Given the description of an element on the screen output the (x, y) to click on. 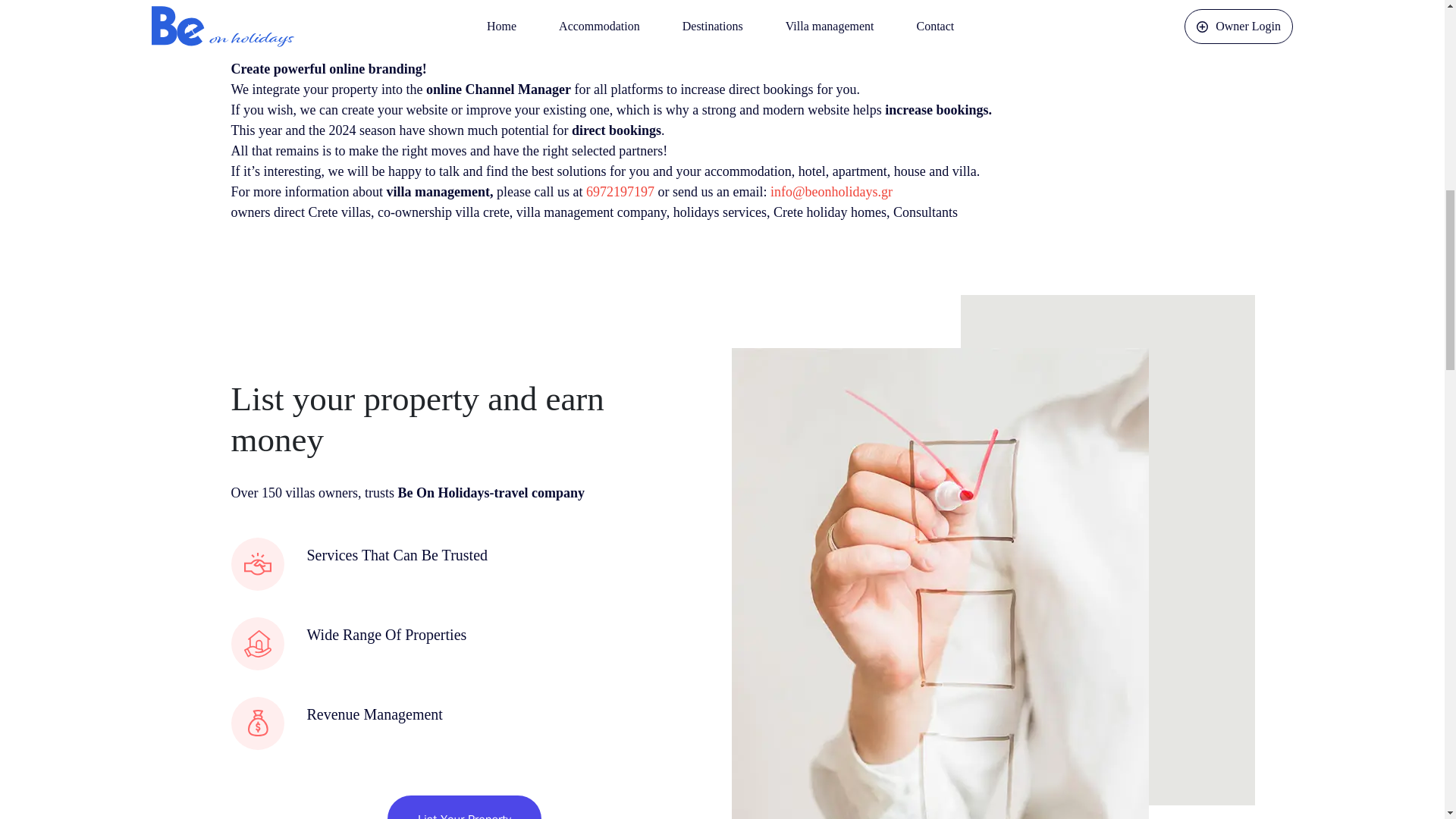
6972197197 (619, 191)
List Your Property (464, 815)
